Given the description of an element on the screen output the (x, y) to click on. 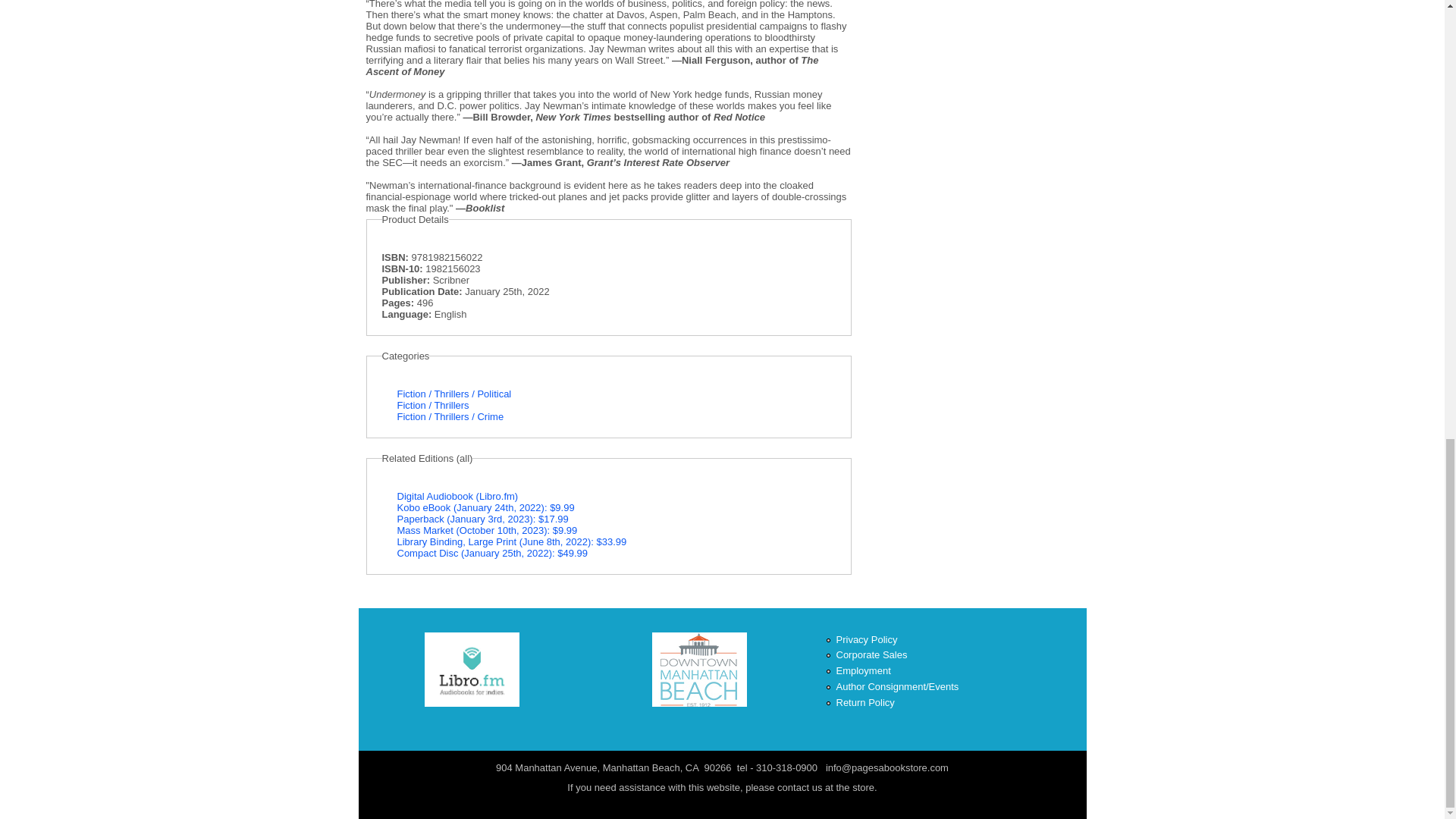
Privacy Policy (865, 639)
Corporate Sales (871, 654)
